Given the description of an element on the screen output the (x, y) to click on. 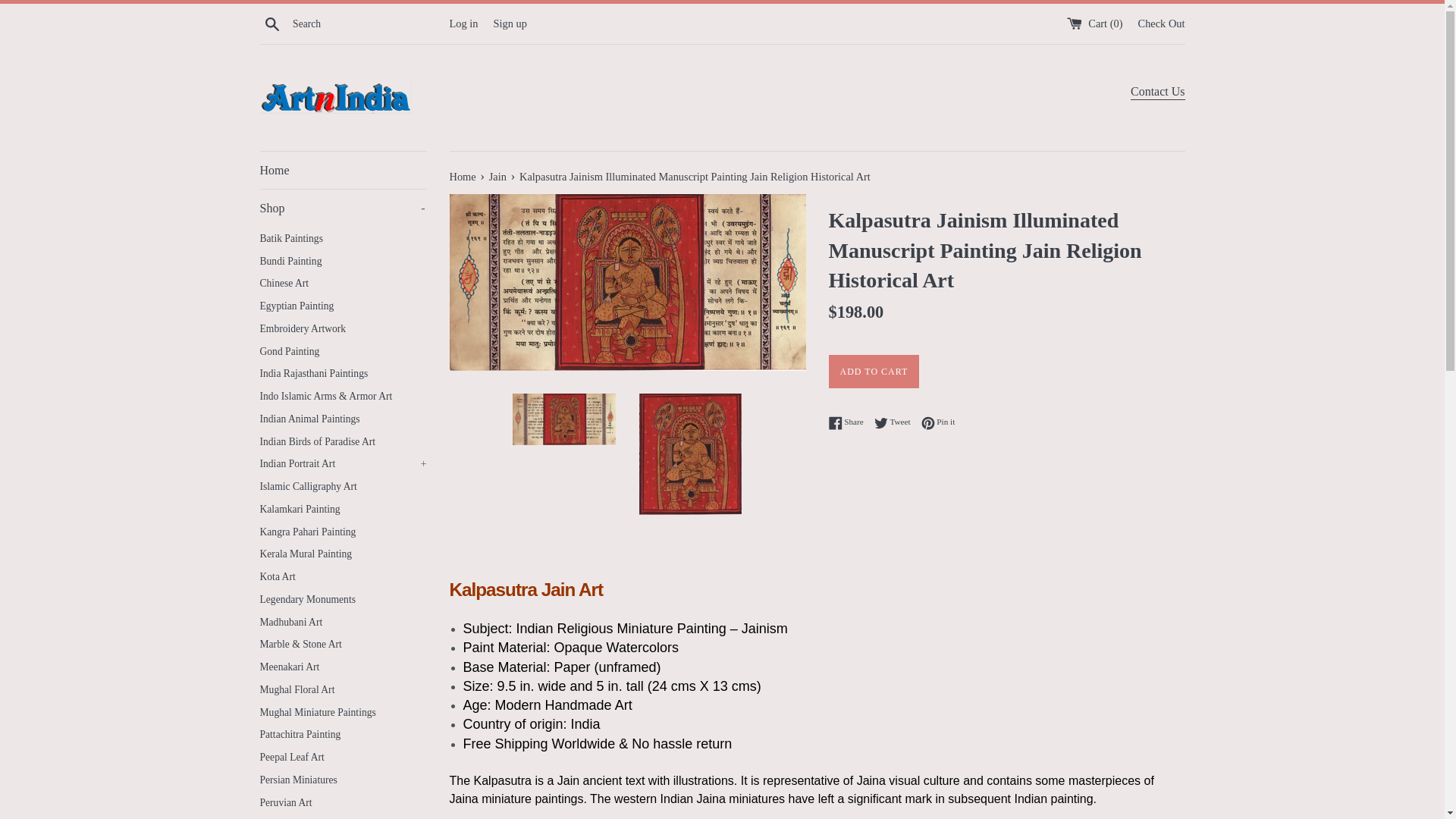
Batik Paintings (342, 238)
Back to the frontpage (463, 176)
Share on Facebook (849, 422)
Kerala Mural Painting (342, 553)
Kalamkari Painting (342, 508)
Indian Birds of Paradise Art (342, 441)
Contact Us (1158, 92)
India Rajasthani Paintings (342, 373)
Indian Animal Paintings (342, 418)
Contact Us (1158, 92)
